Given the description of an element on the screen output the (x, y) to click on. 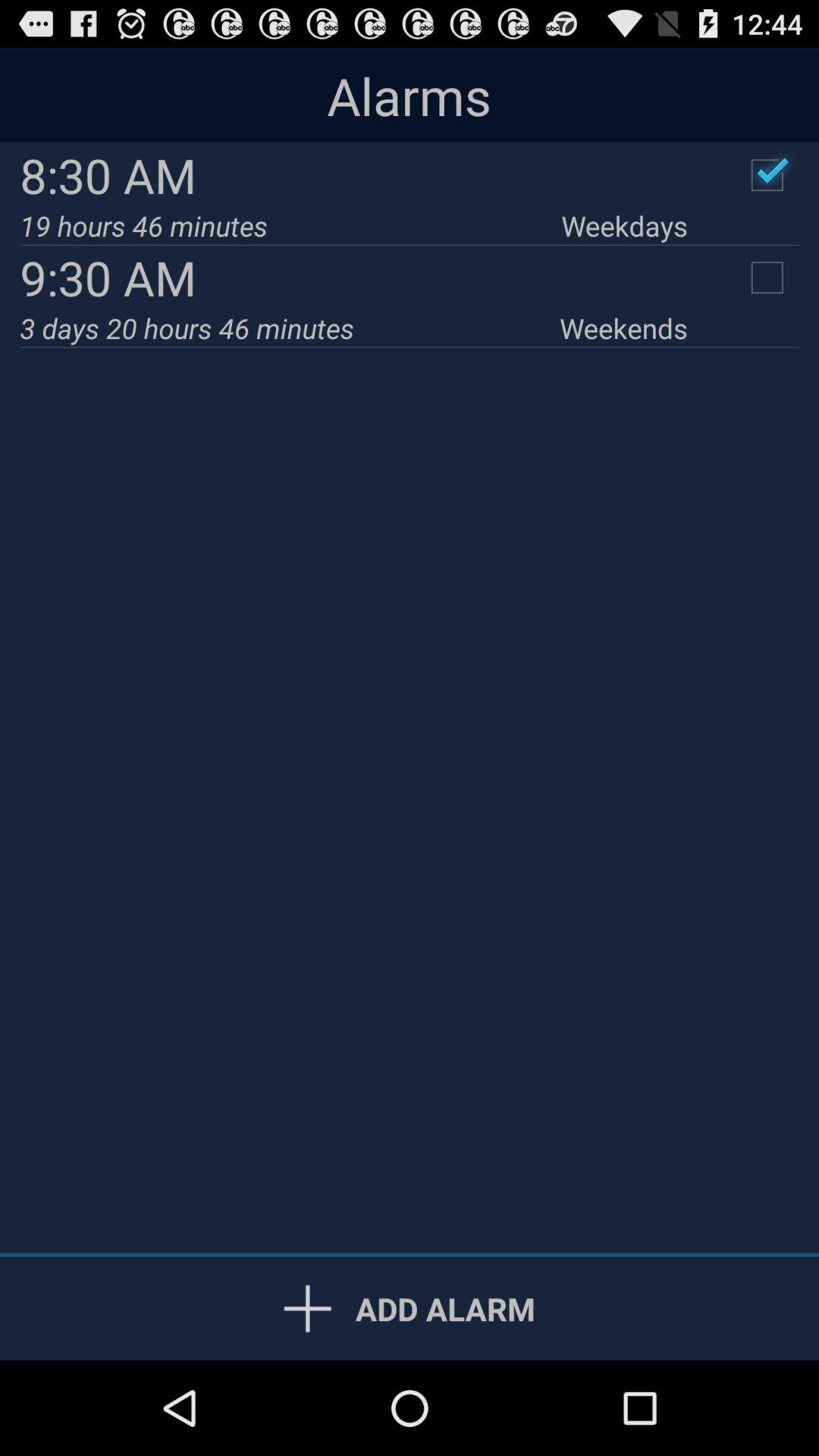
jump until the weekdays item (624, 225)
